Given the description of an element on the screen output the (x, y) to click on. 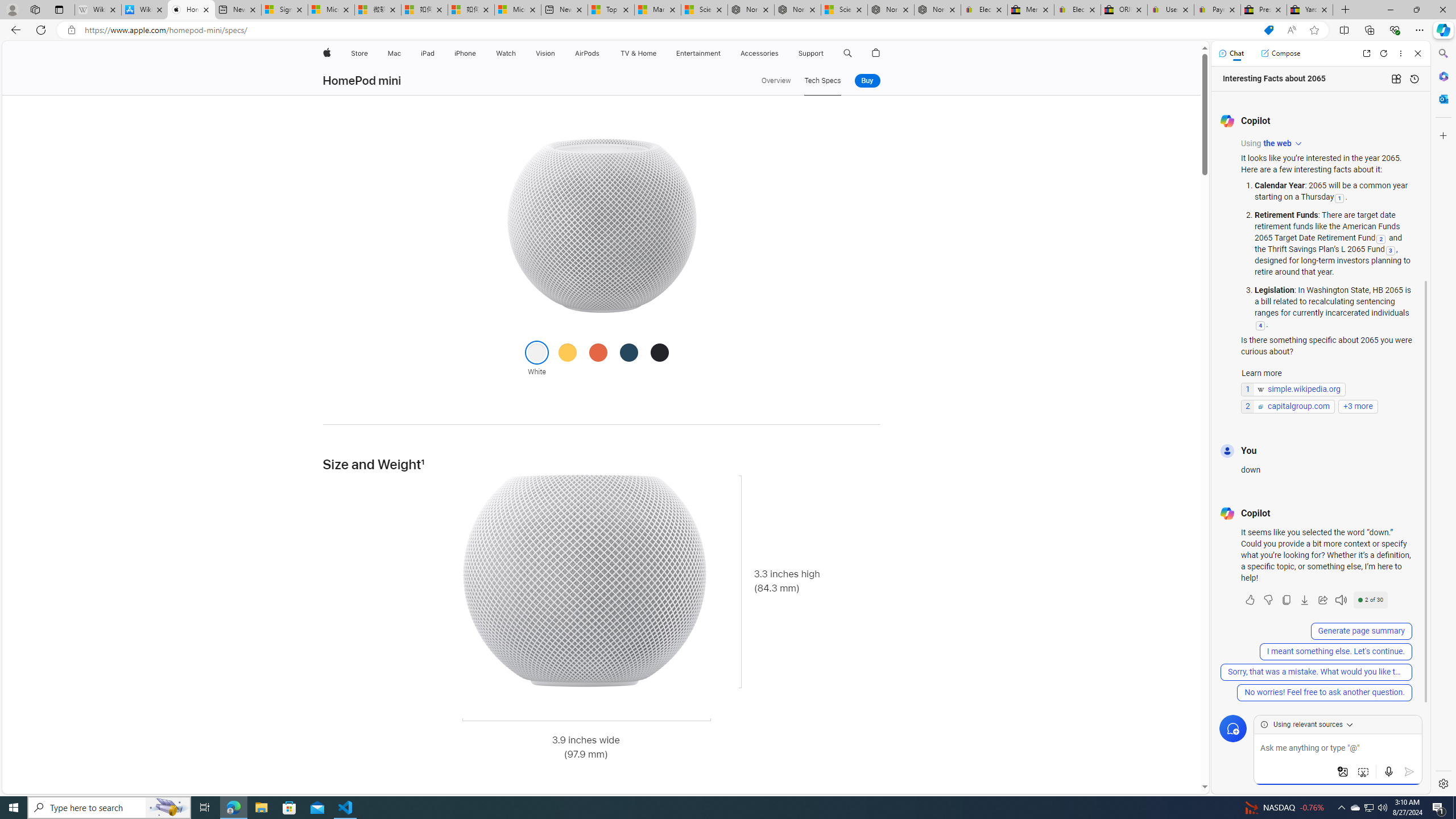
HomePod mini - Technical Specifications - Apple (191, 9)
Buy HomePod mini (867, 80)
